Given the description of an element on the screen output the (x, y) to click on. 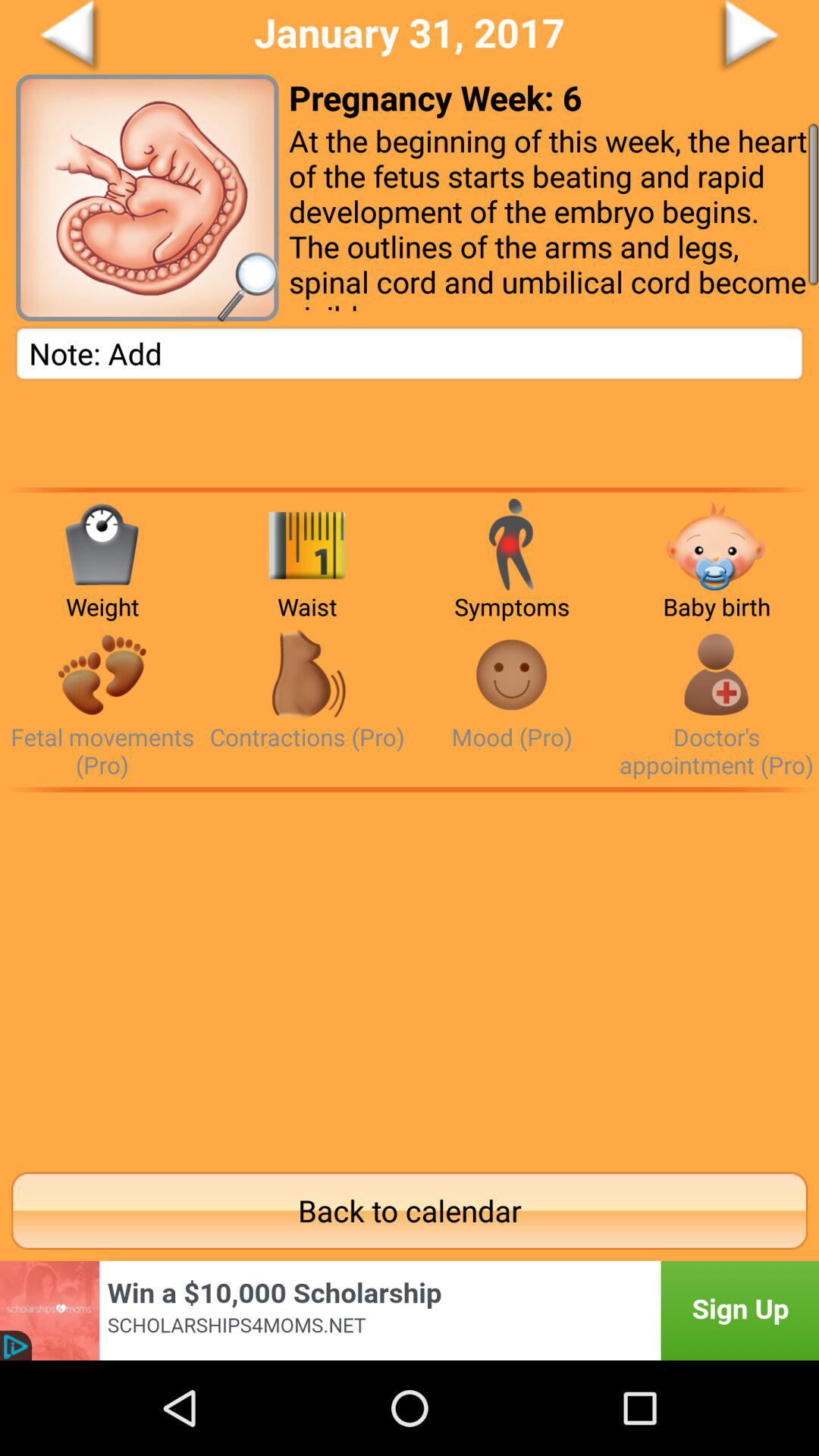
go forward (691, 37)
